Given the description of an element on the screen output the (x, y) to click on. 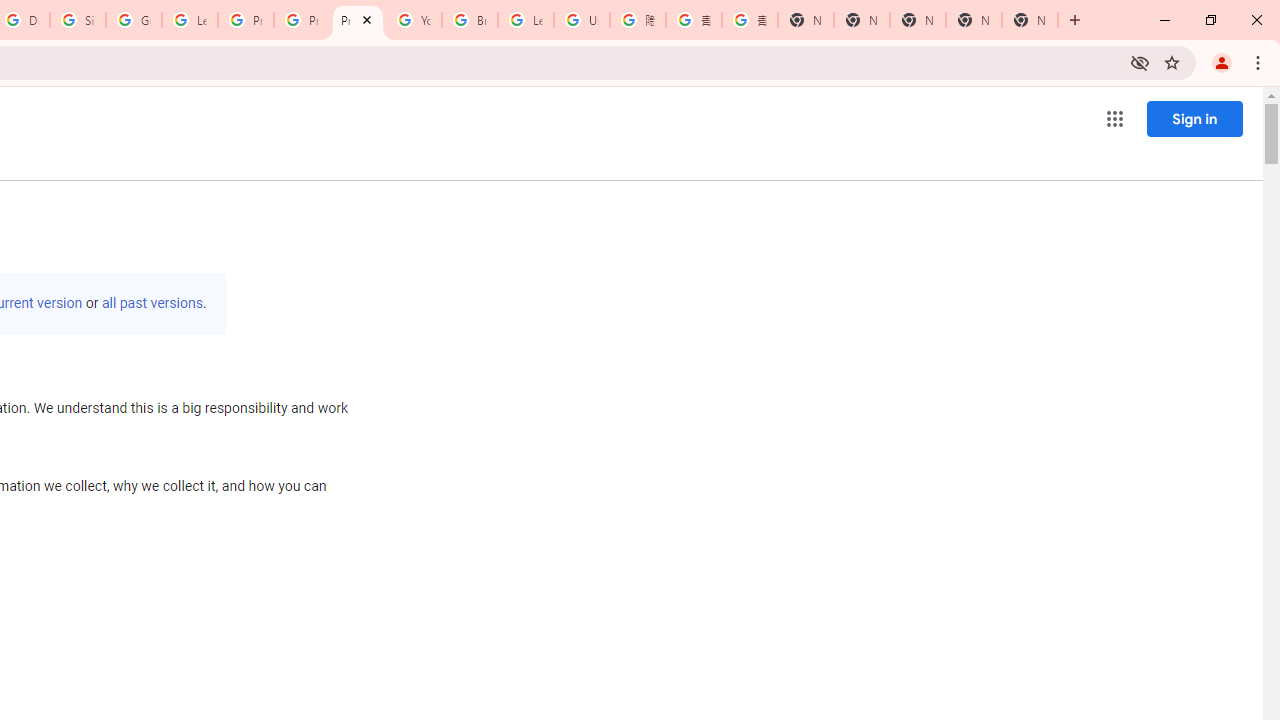
Privacy Help Center - Policies Help (301, 20)
New Tab (806, 20)
Sign in - Google Accounts (77, 20)
New Tab (1030, 20)
